Given the description of an element on the screen output the (x, y) to click on. 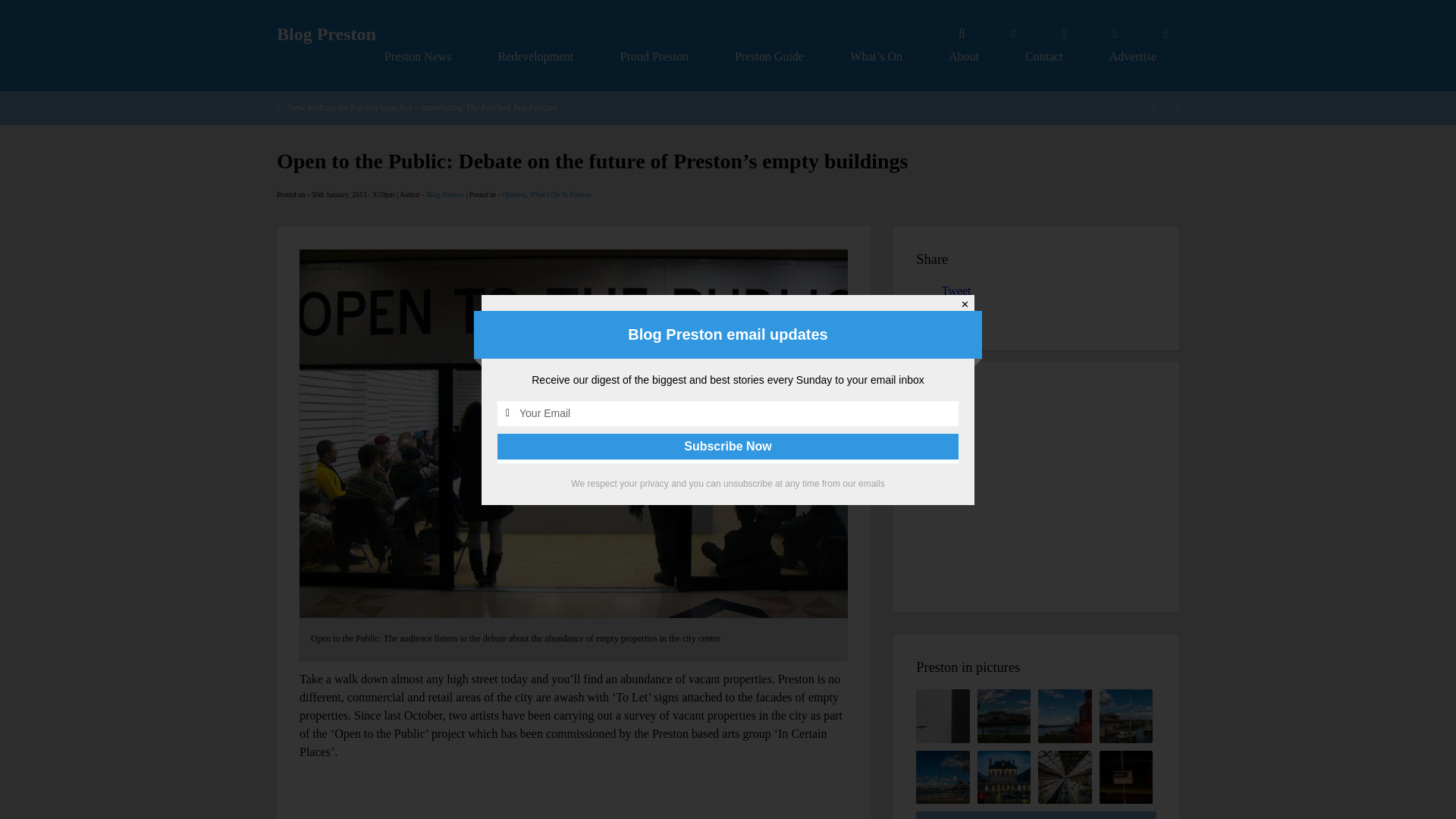
Photos from around Preston (1013, 33)
Redevelopment news in and around Preston (534, 56)
Opinion (513, 194)
Tweet (956, 290)
Contact (1044, 56)
Blog Preston (325, 33)
Contact Blog Preston (1044, 56)
What'S On In Preston (560, 194)
Proud Preston (653, 56)
Subscribe Now (727, 446)
